Given the description of an element on the screen output the (x, y) to click on. 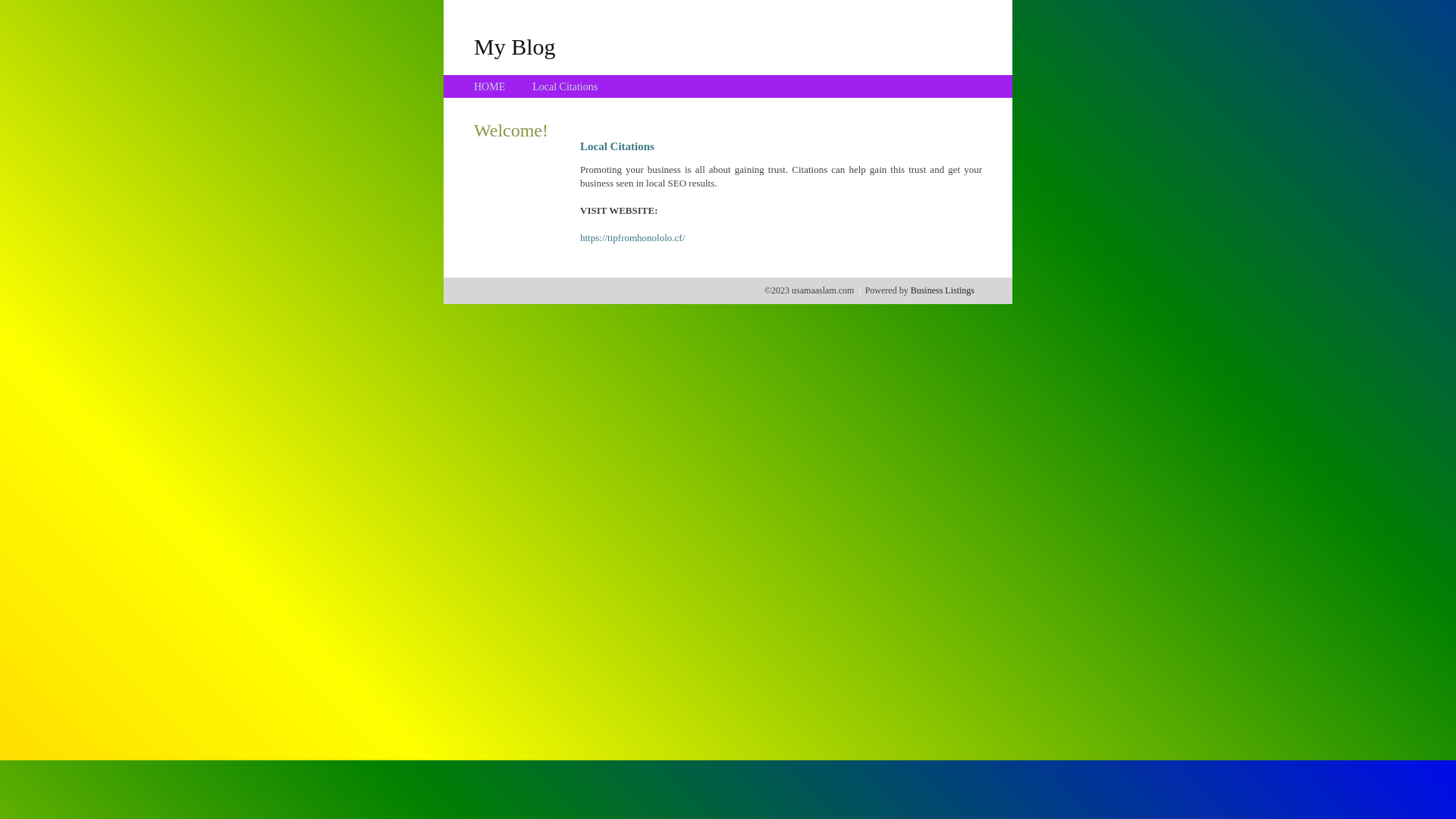
Local Citations Element type: text (564, 86)
https://tipfromhonololo.cf/ Element type: text (632, 237)
My Blog Element type: text (514, 46)
HOME Element type: text (489, 86)
Business Listings Element type: text (942, 290)
